Given the description of an element on the screen output the (x, y) to click on. 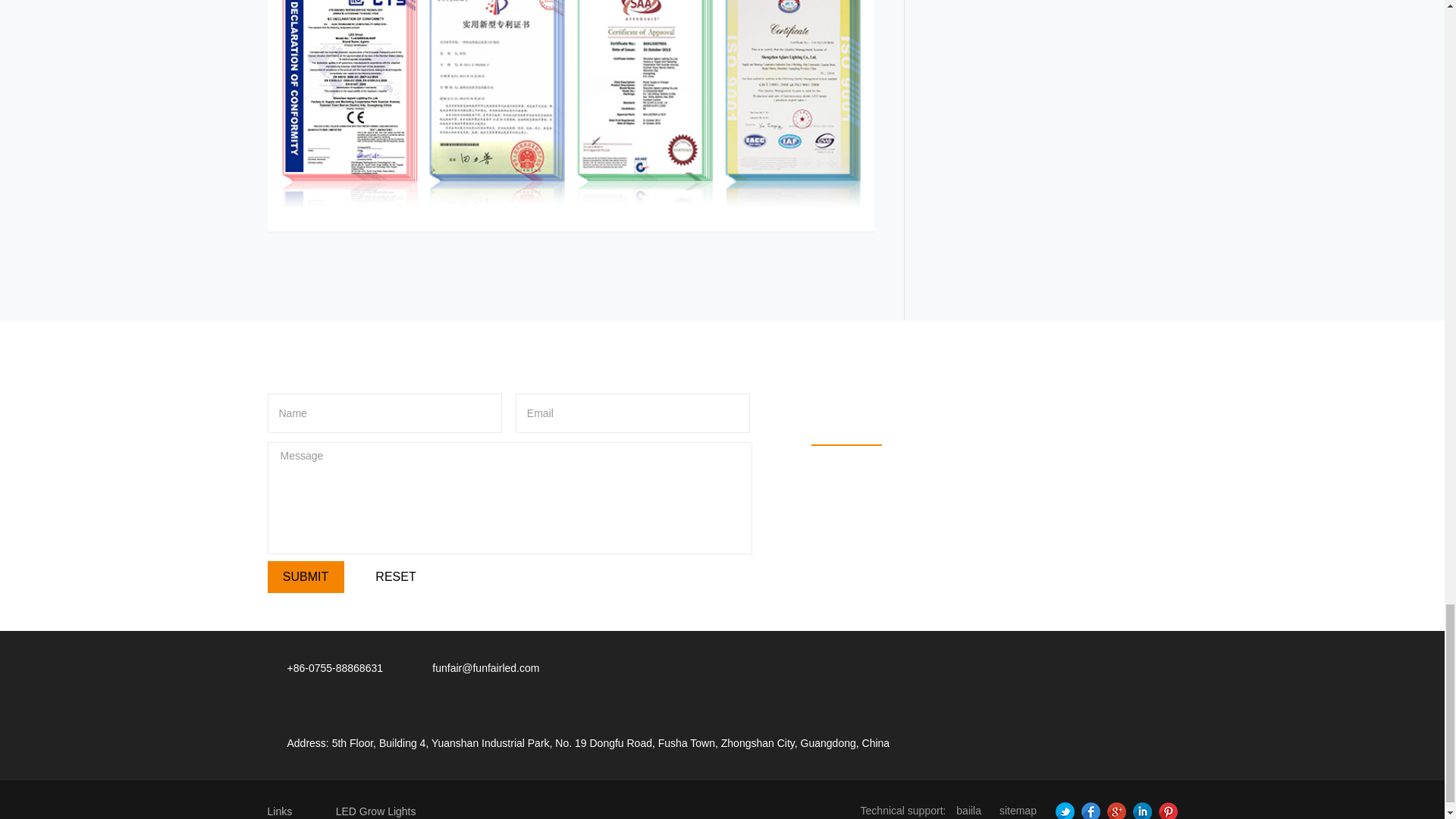
twitter (1062, 810)
SUBMIT (304, 576)
facebook (1088, 810)
google (1114, 810)
pinterest (1165, 810)
linkedin (1140, 810)
LED Grow Lights (376, 810)
RESET (395, 576)
